Given the description of an element on the screen output the (x, y) to click on. 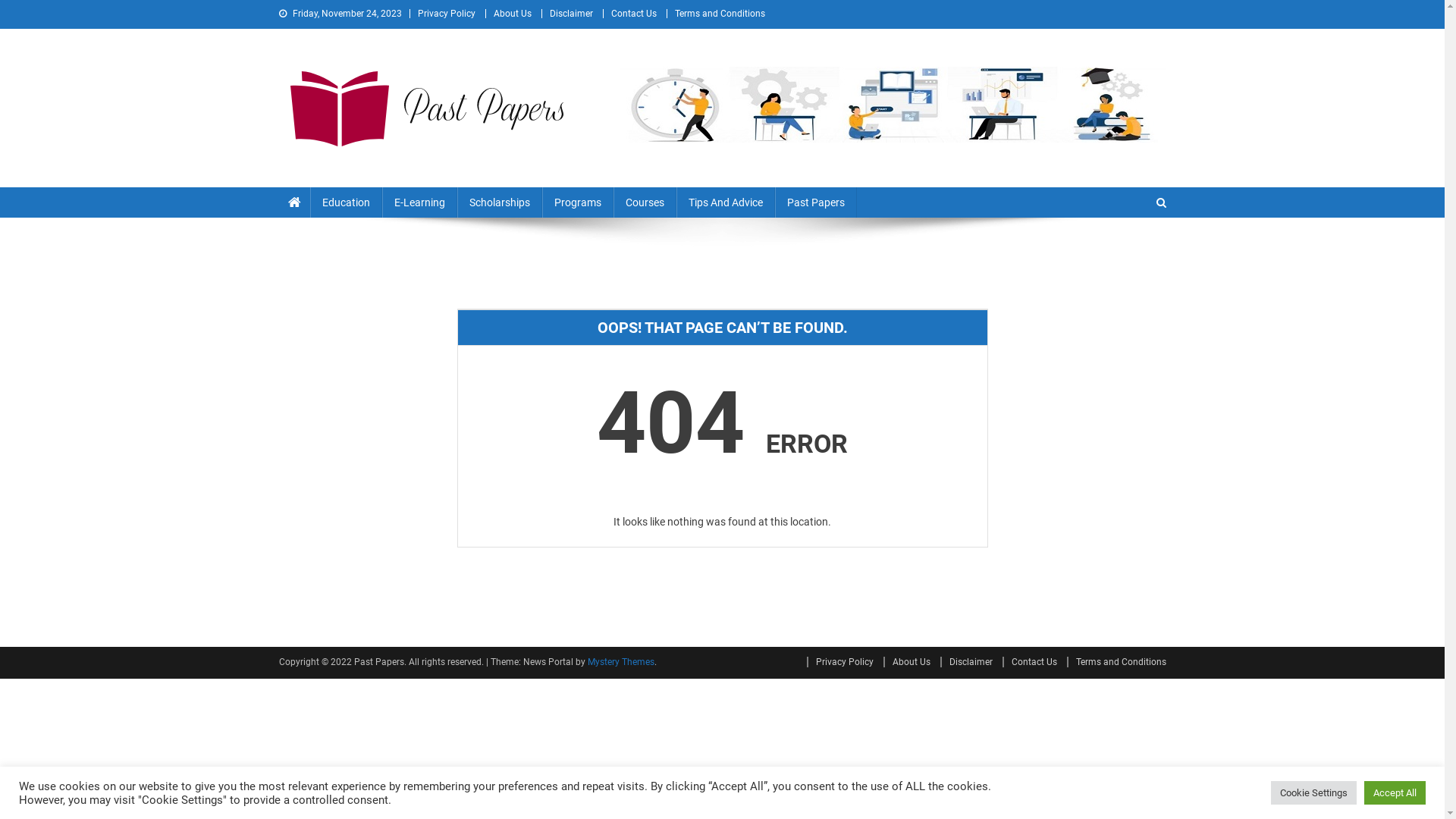
Terms and Conditions Element type: text (719, 13)
Disclaimer Element type: text (570, 13)
Programs Element type: text (576, 202)
Past Papers Element type: text (815, 202)
Past Papers Element type: text (345, 171)
Terms and Conditions Element type: text (1115, 661)
Cookie Settings Element type: text (1313, 792)
Courses Element type: text (643, 202)
Mystery Themes Element type: text (619, 661)
About Us Element type: text (905, 661)
About Us Element type: text (511, 13)
Disclaimer Element type: text (966, 661)
Privacy Policy Element type: text (839, 661)
Contact Us Element type: text (1029, 661)
Search Element type: text (1133, 252)
Privacy Policy Element type: text (445, 13)
E-Learning Element type: text (419, 202)
Tips And Advice Element type: text (725, 202)
Accept All Element type: text (1394, 792)
Scholarships Element type: text (498, 202)
Education Element type: text (345, 202)
Contact Us Element type: text (633, 13)
